Given the description of an element on the screen output the (x, y) to click on. 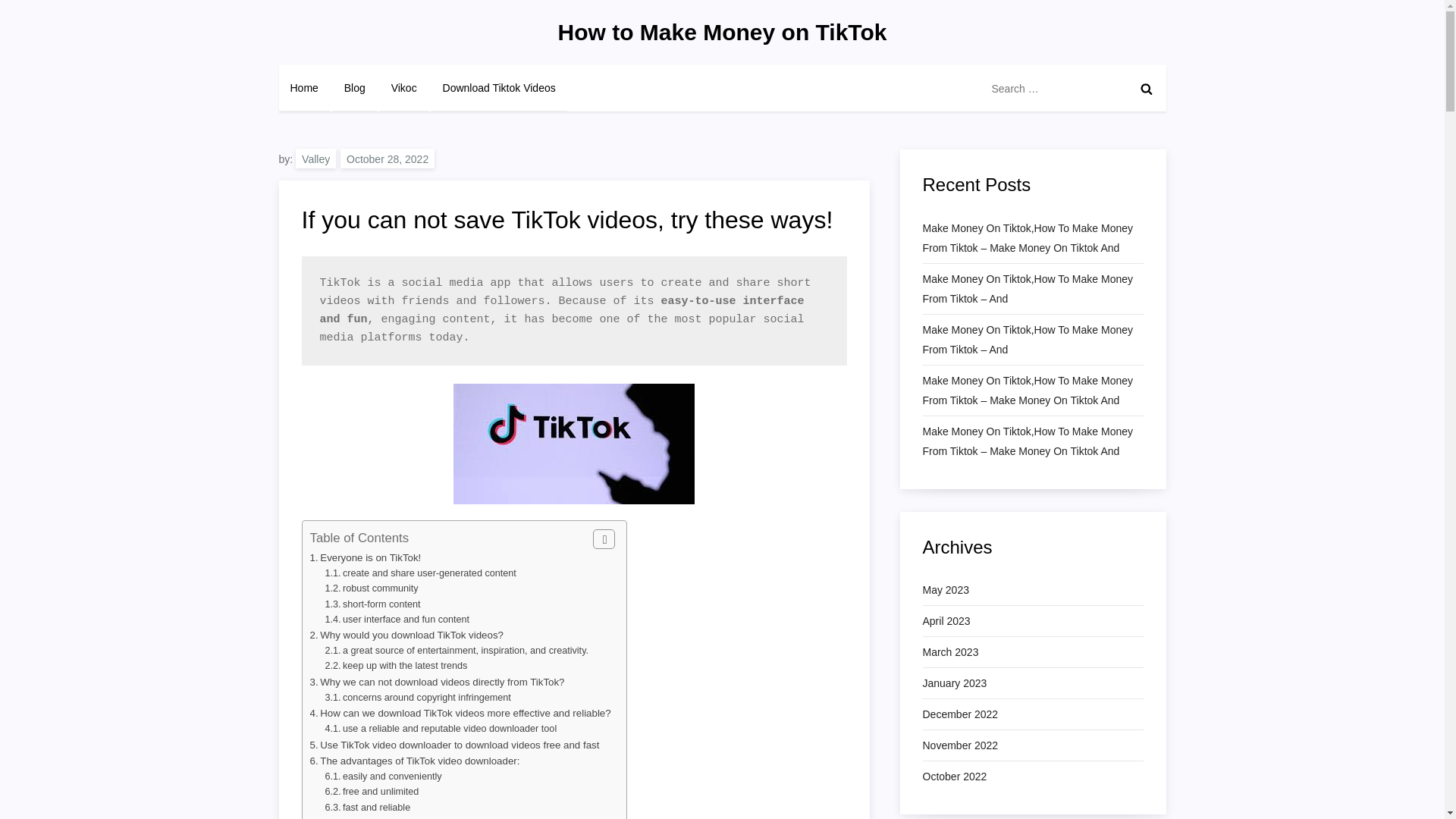
free and unlimited (380, 791)
use a reliable and reputable video downloader tool (449, 728)
Vikoc (404, 87)
use a reliable and reputable video downloader tool (449, 728)
October 28, 2022 (386, 158)
short-form content (381, 603)
concerns around copyright infringement (426, 697)
user interface and fun content (405, 619)
keep up with the latest trends (404, 665)
Everyone is on TikTok! (370, 557)
Download Tiktok Videos (498, 87)
concerns around copyright infringement (426, 697)
create and share user-generated content (429, 573)
Home (304, 87)
